Given the description of an element on the screen output the (x, y) to click on. 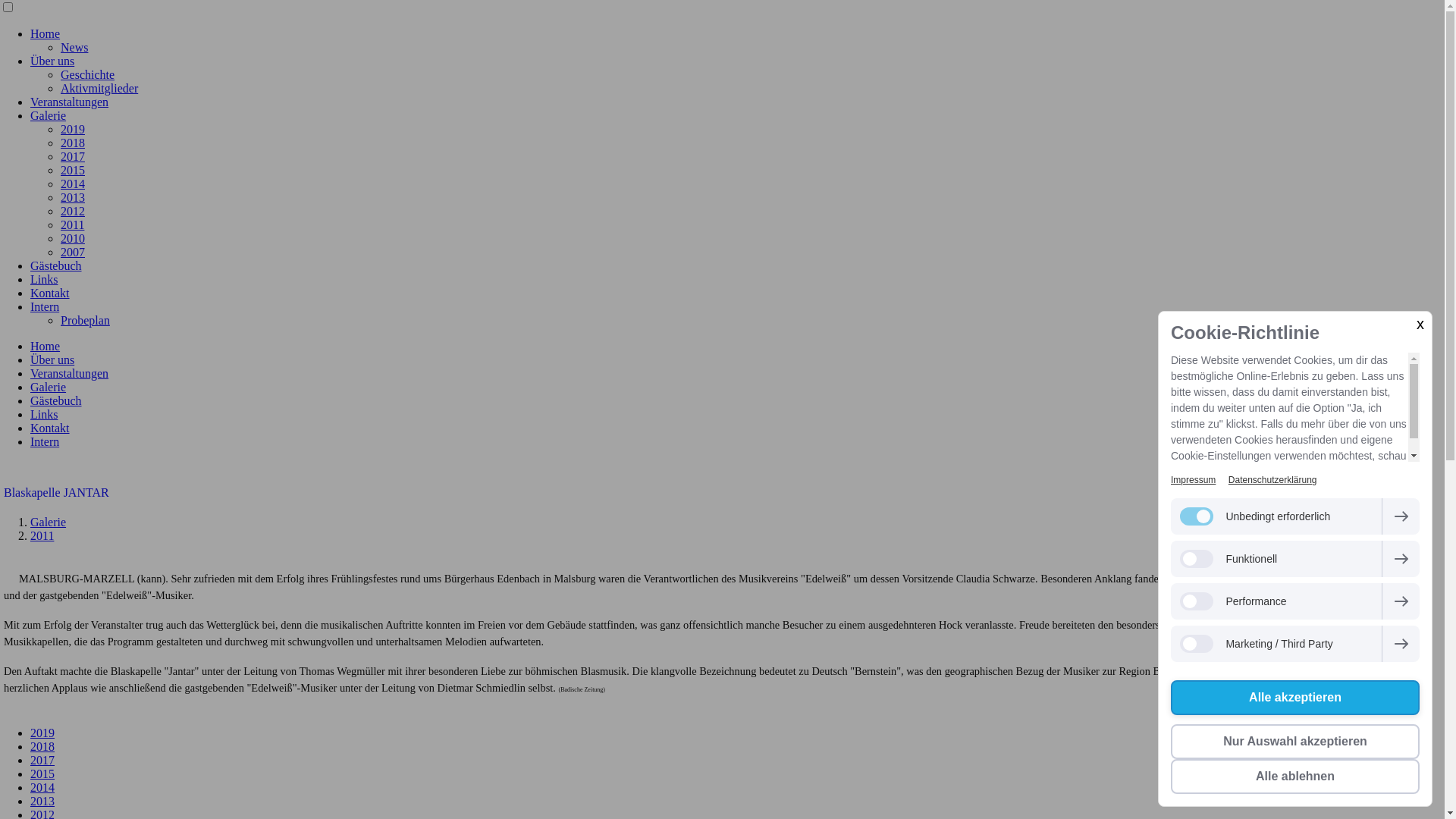
Kontakt Element type: text (49, 292)
Home Element type: text (44, 345)
Links Element type: text (43, 413)
Alle akzeptieren Element type: text (1294, 697)
News Element type: text (73, 46)
2007 Element type: text (72, 251)
Blaskapelle JANTAR Element type: text (721, 492)
2010 Element type: text (72, 238)
Probeplan Element type: text (84, 319)
2013 Element type: text (72, 197)
2011 Element type: text (72, 224)
Nur Auswahl akzeptieren Element type: text (1294, 741)
Intern Element type: text (44, 441)
2019 Element type: text (72, 128)
2015 Element type: text (42, 773)
Galerie Element type: text (47, 115)
2019 Element type: text (42, 732)
Geschichte Element type: text (87, 74)
2013 Element type: text (42, 800)
2014 Element type: text (42, 787)
2017 Element type: text (42, 759)
Aktivmitglieder Element type: text (99, 87)
Alle ablehnen Element type: text (1294, 776)
2017 Element type: text (72, 156)
Impressum Element type: text (1192, 479)
Home Element type: text (44, 33)
Intern Element type: text (44, 306)
Veranstaltungen Element type: text (69, 101)
Links Element type: text (43, 279)
2018 Element type: text (42, 746)
Galerie Element type: text (47, 386)
2011 Element type: text (41, 535)
Galerie Element type: text (47, 521)
2012 Element type: text (72, 210)
2018 Element type: text (72, 142)
2014 Element type: text (72, 183)
2015 Element type: text (72, 169)
Veranstaltungen Element type: text (69, 373)
Kontakt Element type: text (49, 427)
